Given the description of an element on the screen output the (x, y) to click on. 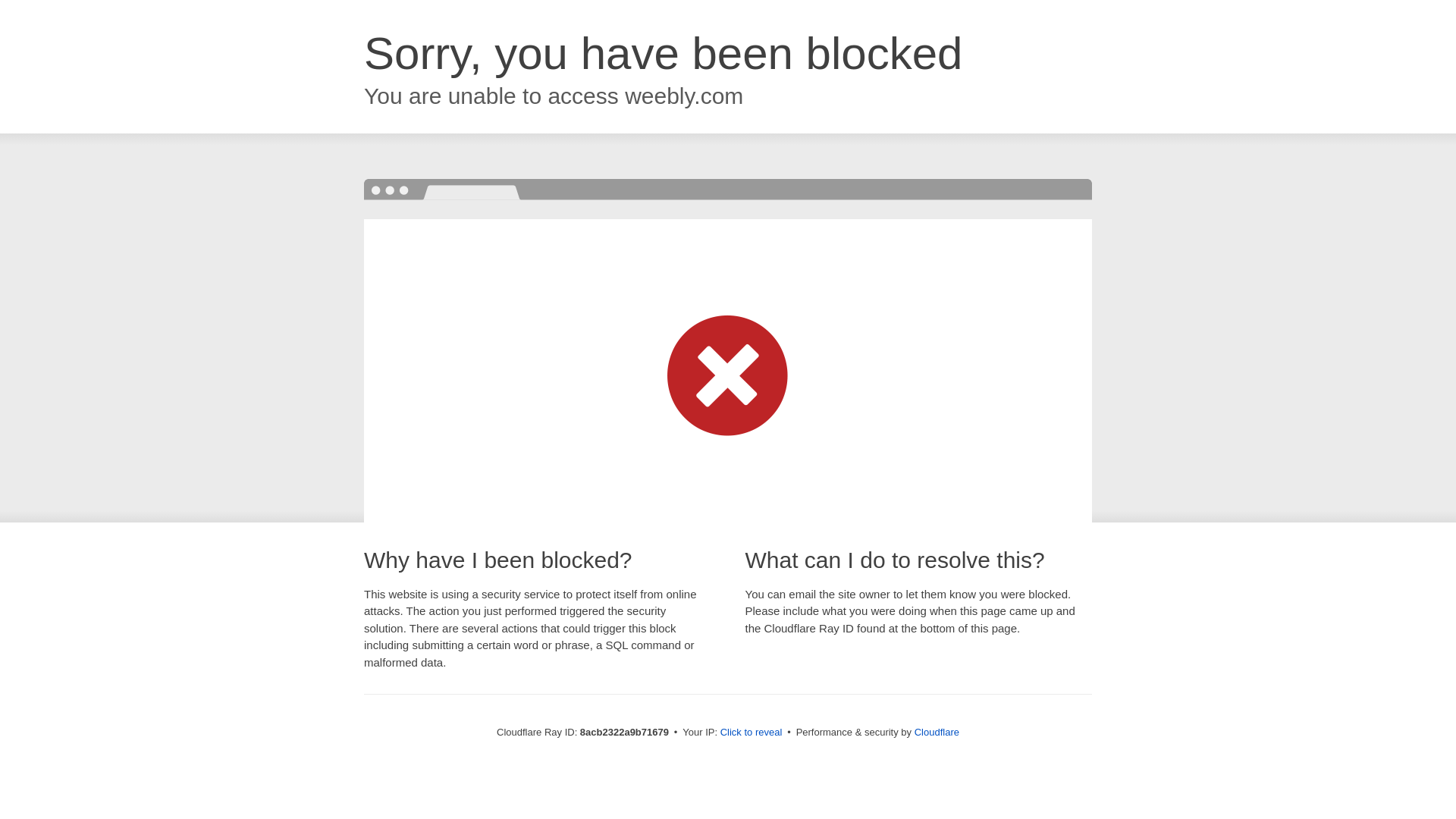
Cloudflare (936, 731)
Click to reveal (751, 732)
